Given the description of an element on the screen output the (x, y) to click on. 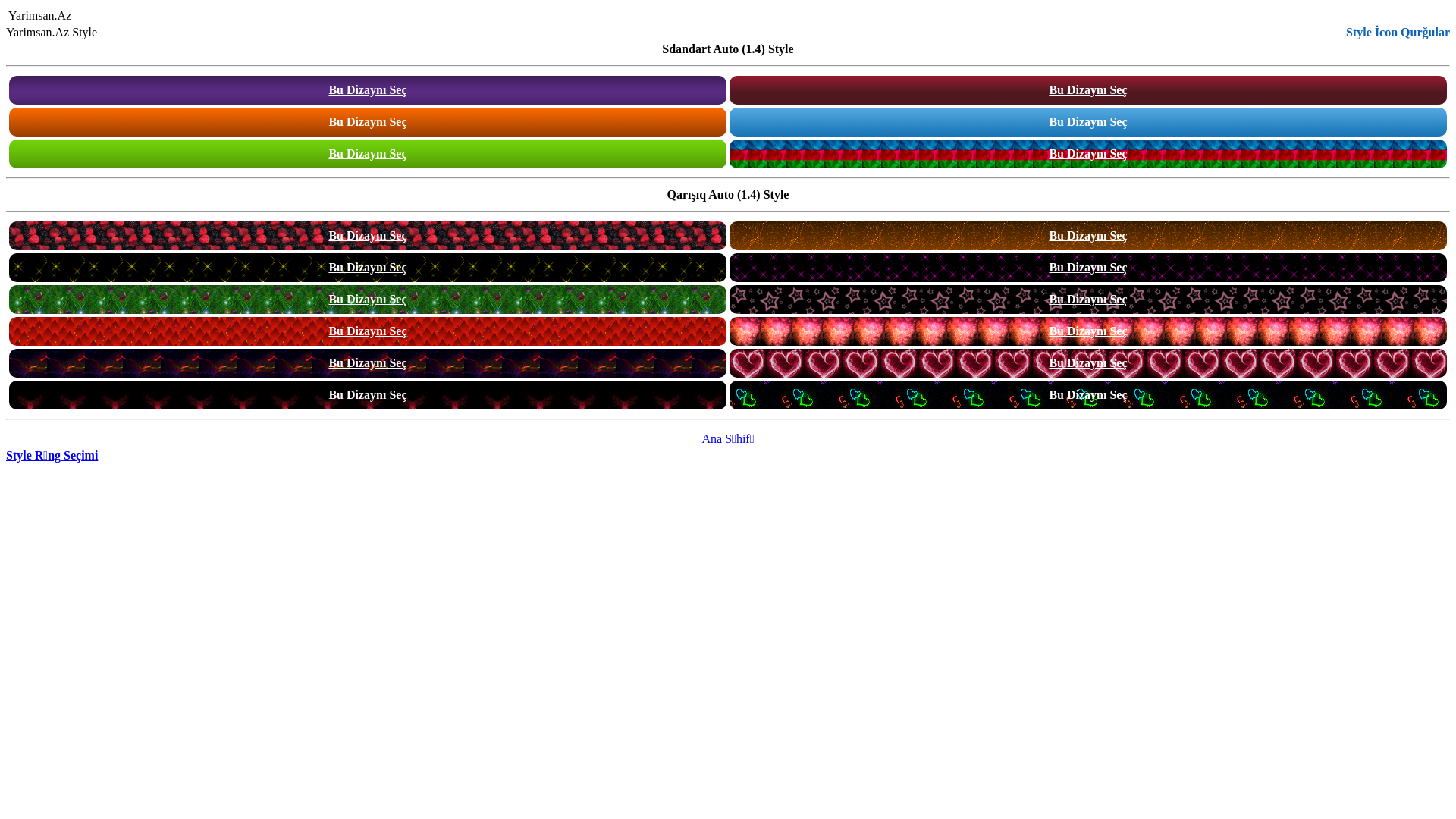
Bildirisler Element type: hover (110, 15)
Mesajlar Element type: hover (95, 15)
Sdandart Auto (1.4) Style Element type: text (727, 48)
Qeydiyyat Element type: hover (140, 15)
Qonaqlar Element type: hover (125, 15)
